Given the description of an element on the screen output the (x, y) to click on. 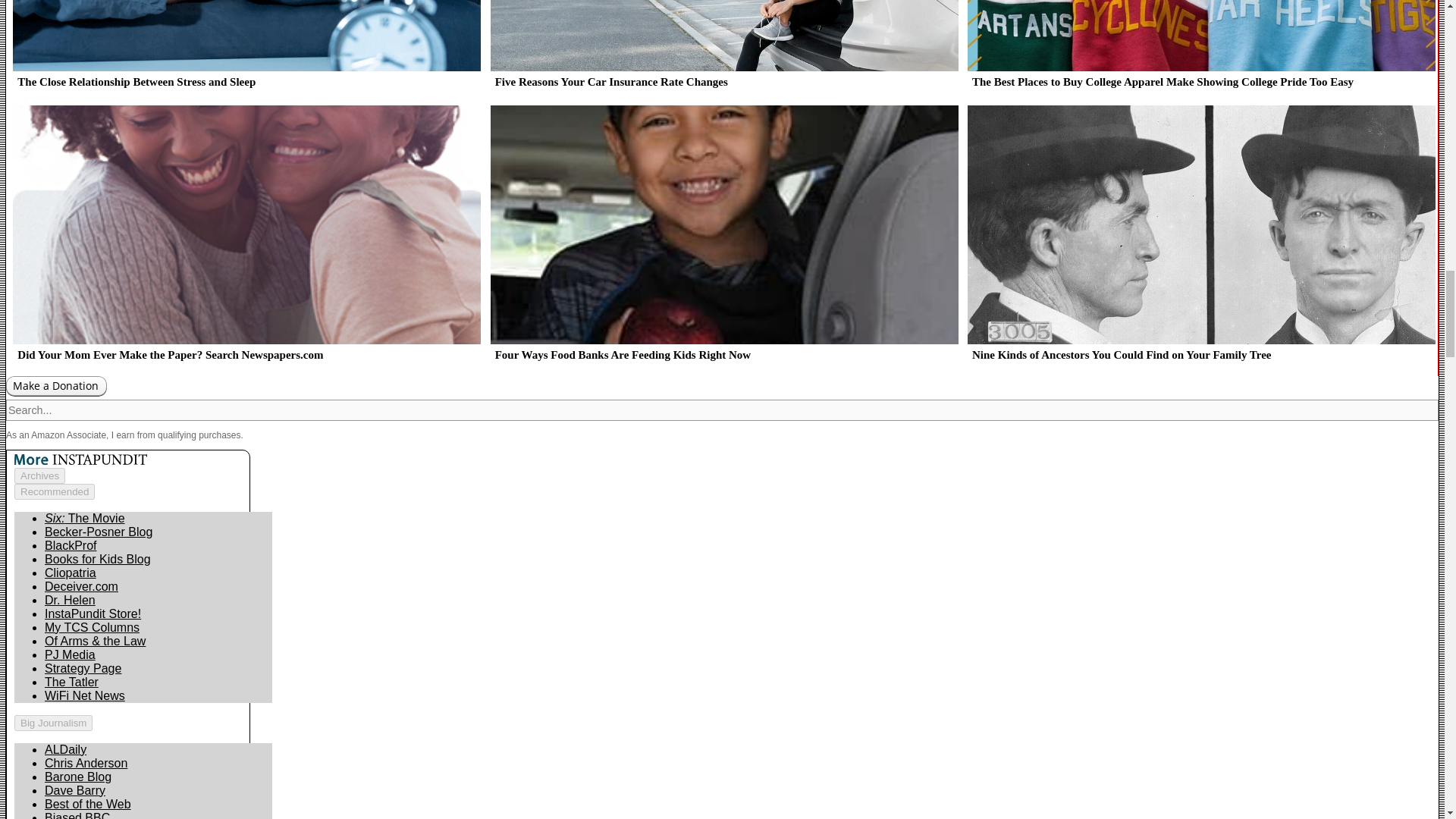
Four Ways Food Banks Are Feeding Kids Right Now (721, 239)
Nine Kinds of Ancestors You Could Find on Your Family Tree (1198, 239)
Six: The Movie (85, 517)
Five Reasons Your Car Insurance Rate Changes (721, 50)
Five Reasons Your Car Insurance Rate Changes (721, 50)
Archives (39, 475)
The Close Relationship Between Stress and Sleep (244, 50)
Nine Kinds of Ancestors You Could Find on Your Family Tree (1198, 239)
Did Your Mom Ever Make the Paper? Search Newspapers.com (244, 239)
The Close Relationship Between Stress and Sleep (244, 50)
Did Your Mom Ever Make the Paper? Search Newspapers.com (244, 239)
Becker-Posner Blog (98, 531)
Four Ways Food Banks Are Feeding Kids Right Now (721, 239)
